Given the description of an element on the screen output the (x, y) to click on. 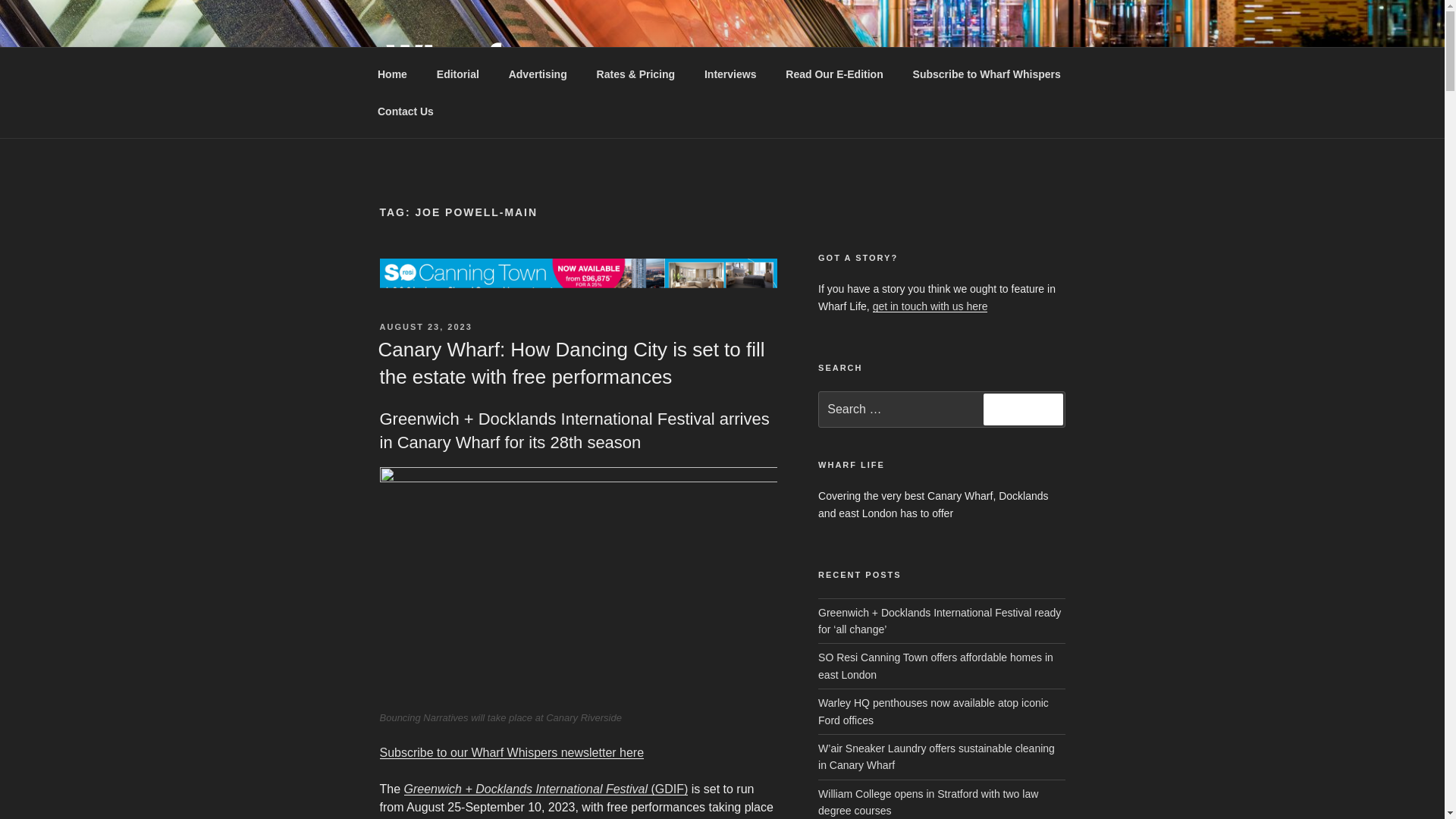
Read Our E-Edition (834, 74)
Home (392, 74)
Subscribe to our Wharf Whispers newsletter here (510, 752)
AUGUST 23, 2023 (424, 326)
Contact Us (405, 110)
Advertising (537, 74)
WHARF LIFE (473, 119)
Subscribe to Wharf Whispers (986, 74)
Editorial (457, 74)
Interviews (729, 74)
